Given the description of an element on the screen output the (x, y) to click on. 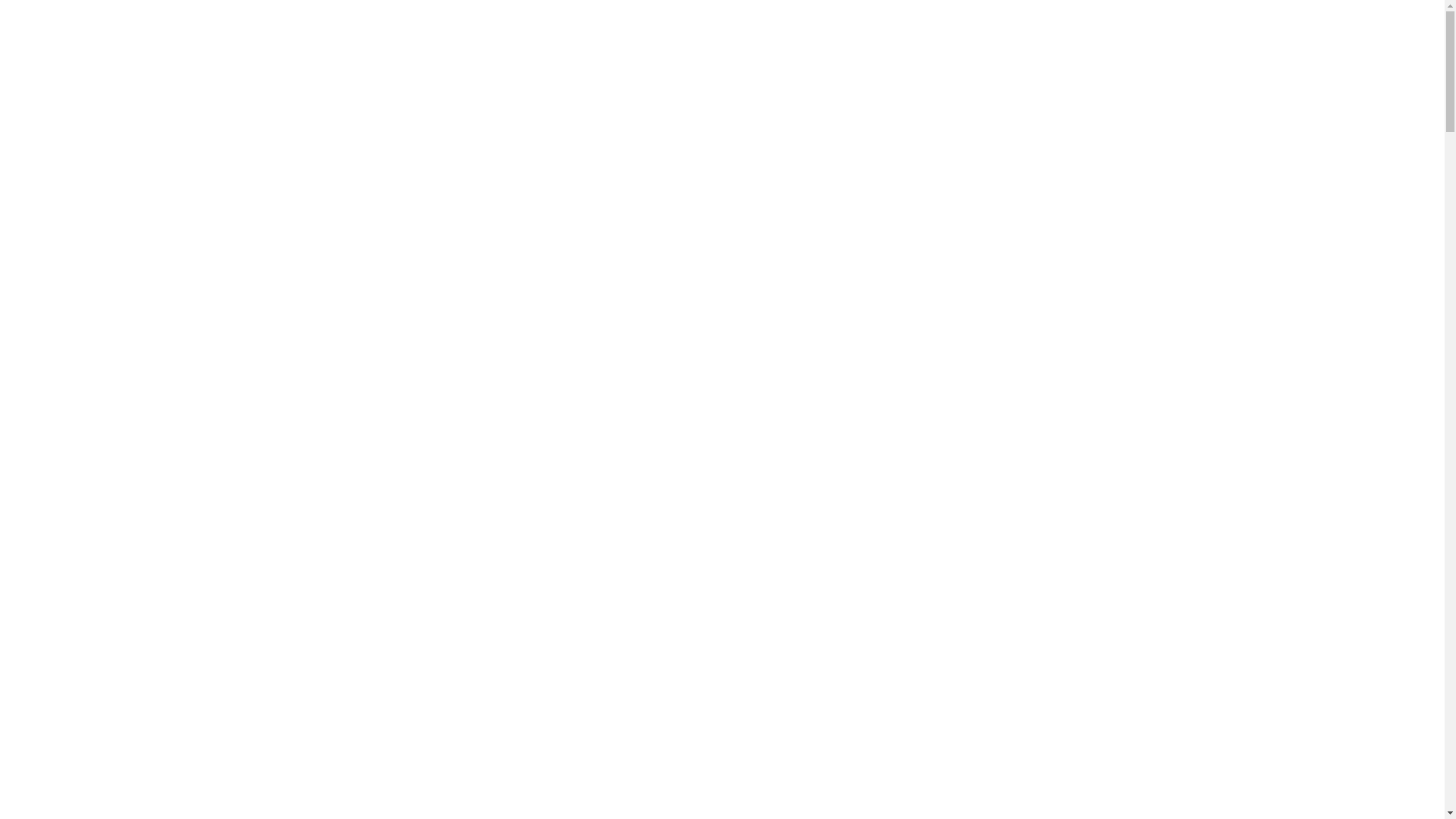
SERVICES Element type: text (1153, 37)
ACCUEIL Element type: text (1079, 37)
NOUS JOINDRE Element type: text (1247, 37)
Commercial
Chauffage | Plomberie | Gaz
+ Element type: text (936, 759)
